Given the description of an element on the screen output the (x, y) to click on. 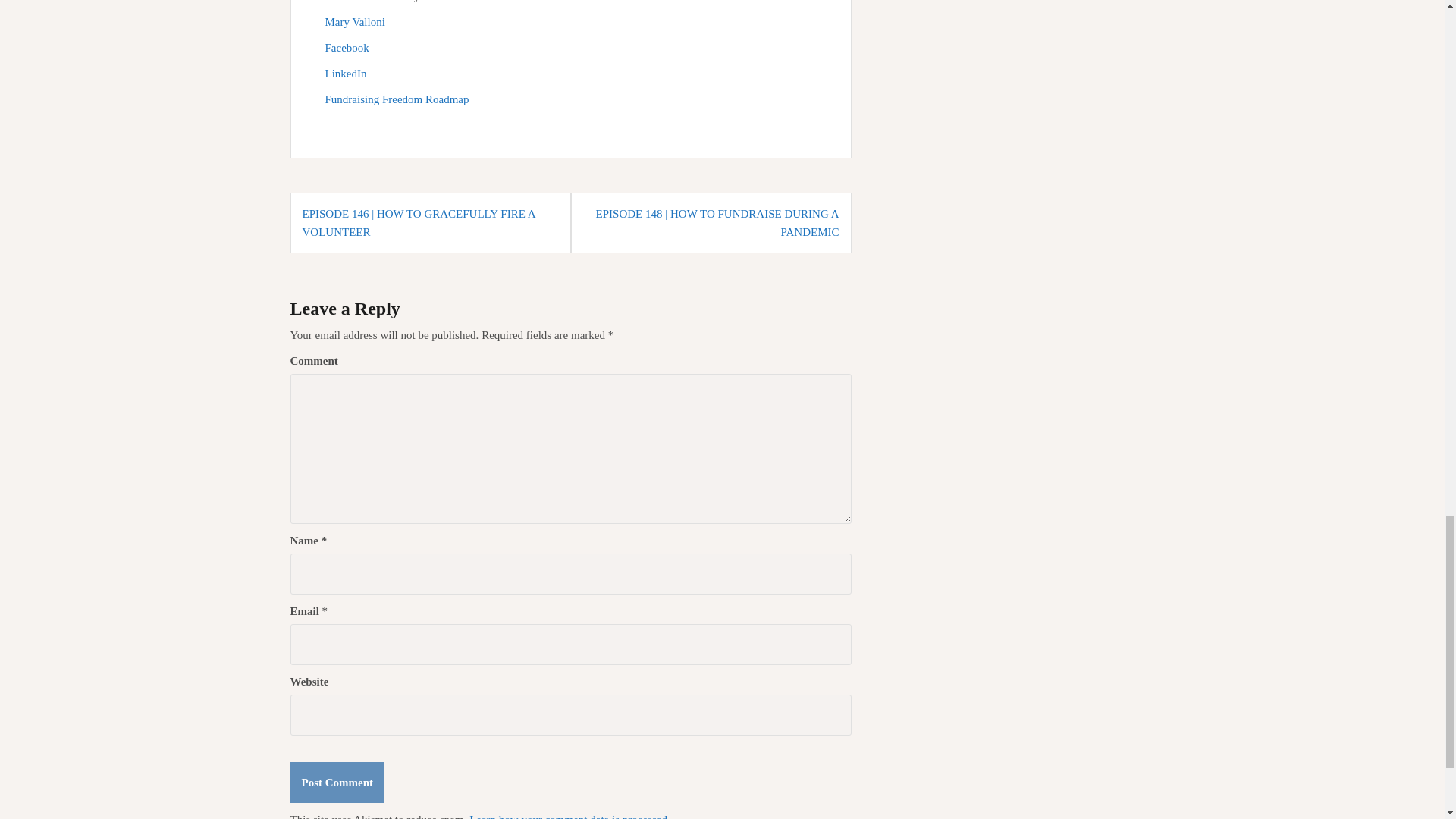
Post Comment (336, 782)
Facebook (346, 47)
Fundraising Freedom Roadmap (396, 99)
Post Comment (336, 782)
Learn how your comment data is processed (567, 816)
LinkedIn (345, 73)
Mary Valloni (354, 21)
